Given the description of an element on the screen output the (x, y) to click on. 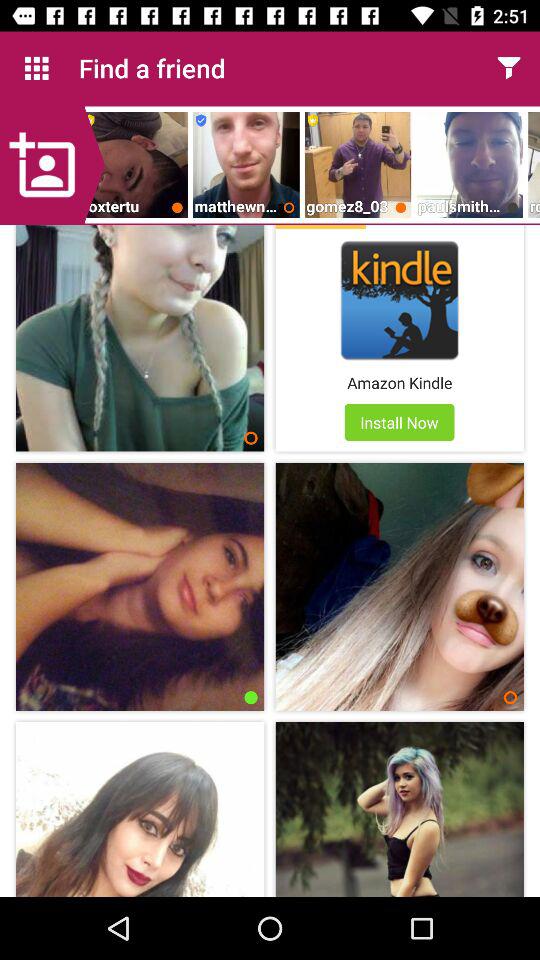
add a friend (52, 165)
